Given the description of an element on the screen output the (x, y) to click on. 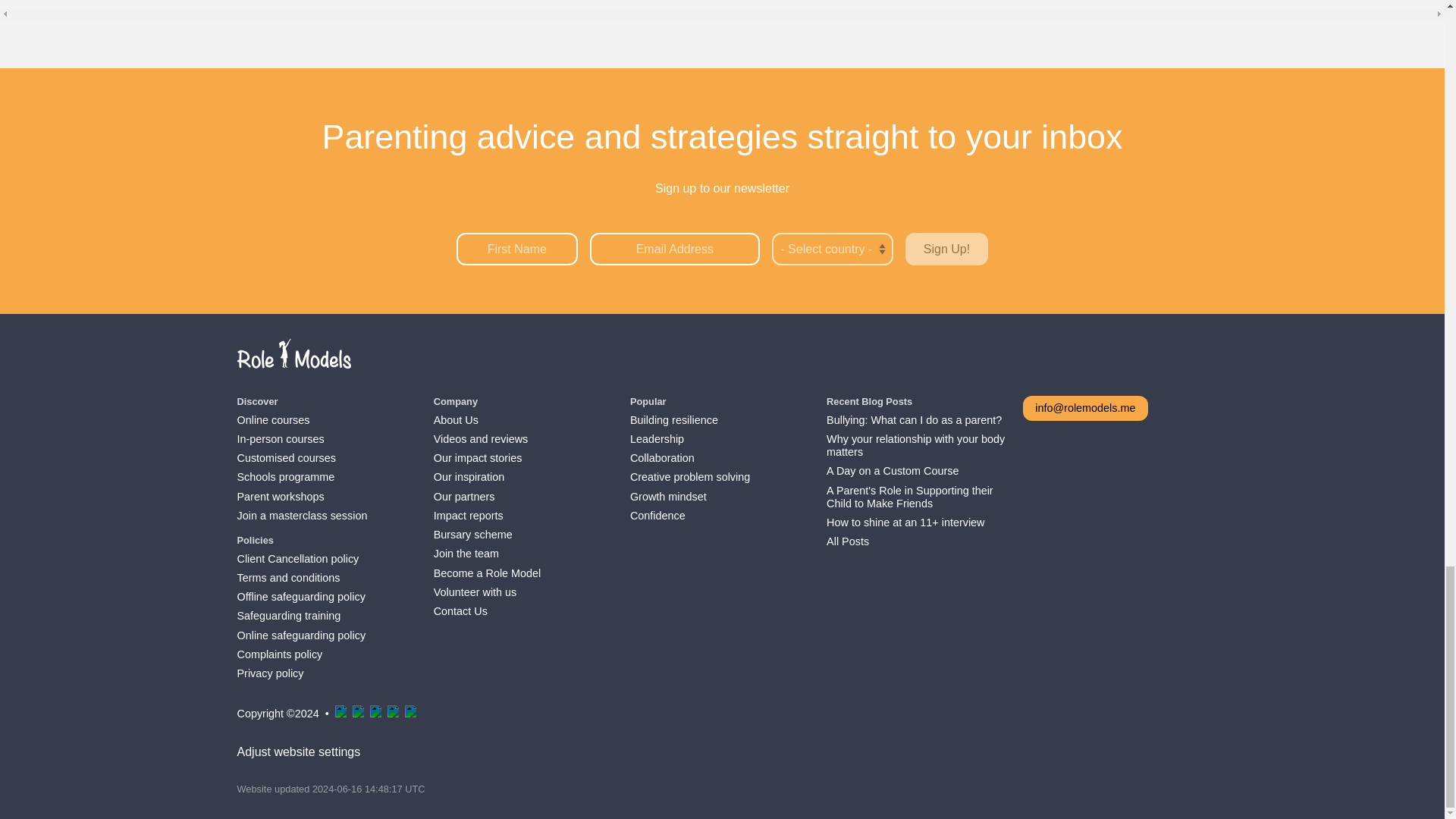
Customised courses (300, 458)
Schools programme (300, 477)
Sign Up! (946, 248)
Parent workshops (300, 496)
Join a masterclass session (300, 515)
In-person courses (300, 439)
Online courses (300, 419)
Client Cancellation policy (300, 558)
